Given the description of an element on the screen output the (x, y) to click on. 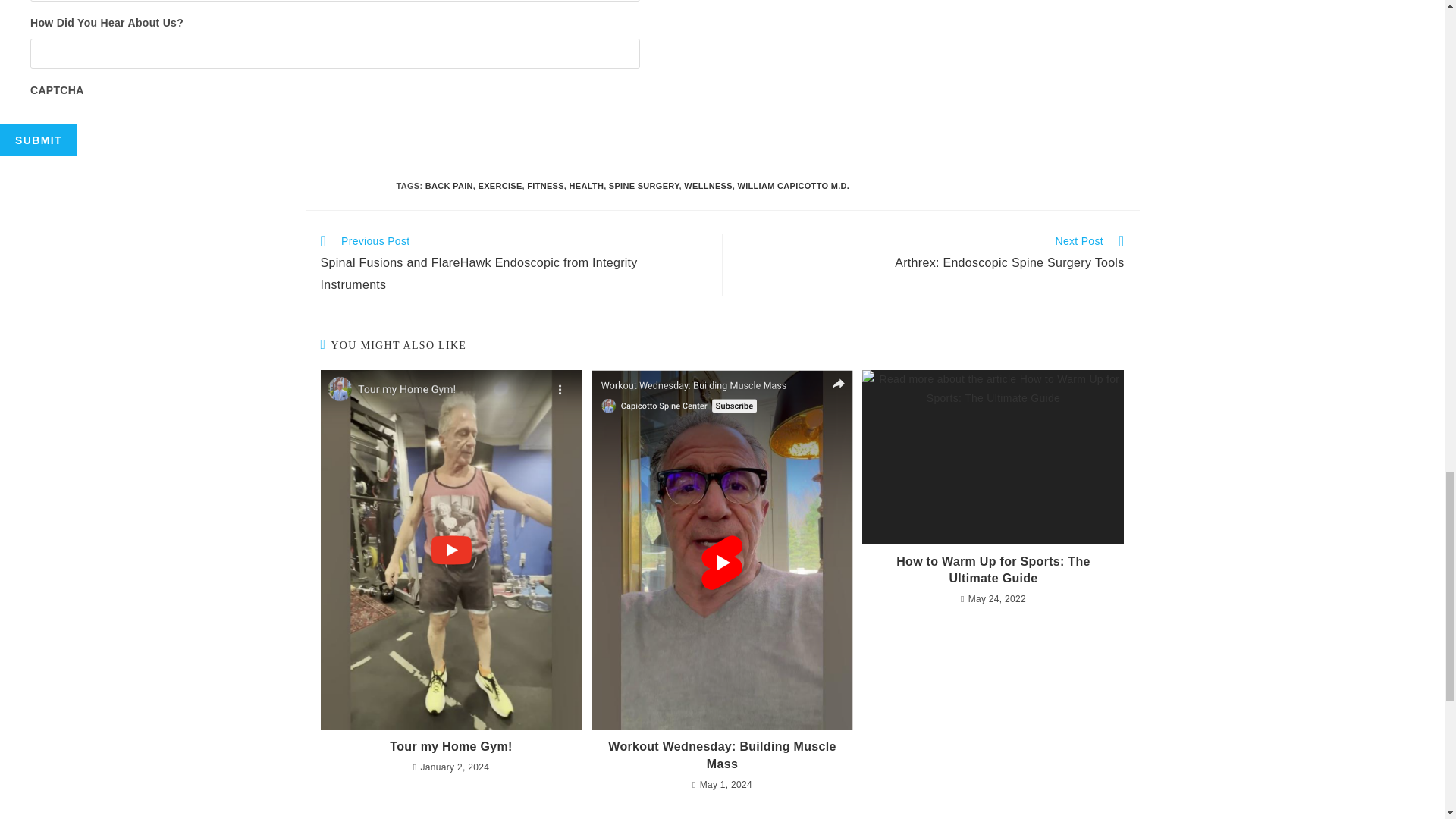
HEALTH (586, 185)
Workout Wednesday: Building Muscle Mass (721, 755)
WILLIAM CAPICOTTO M.D. (794, 185)
Tour my Home Gym! (450, 746)
SPINE SURGERY (643, 185)
Submit (38, 140)
Submit (930, 253)
BACK PAIN (38, 140)
